Given the description of an element on the screen output the (x, y) to click on. 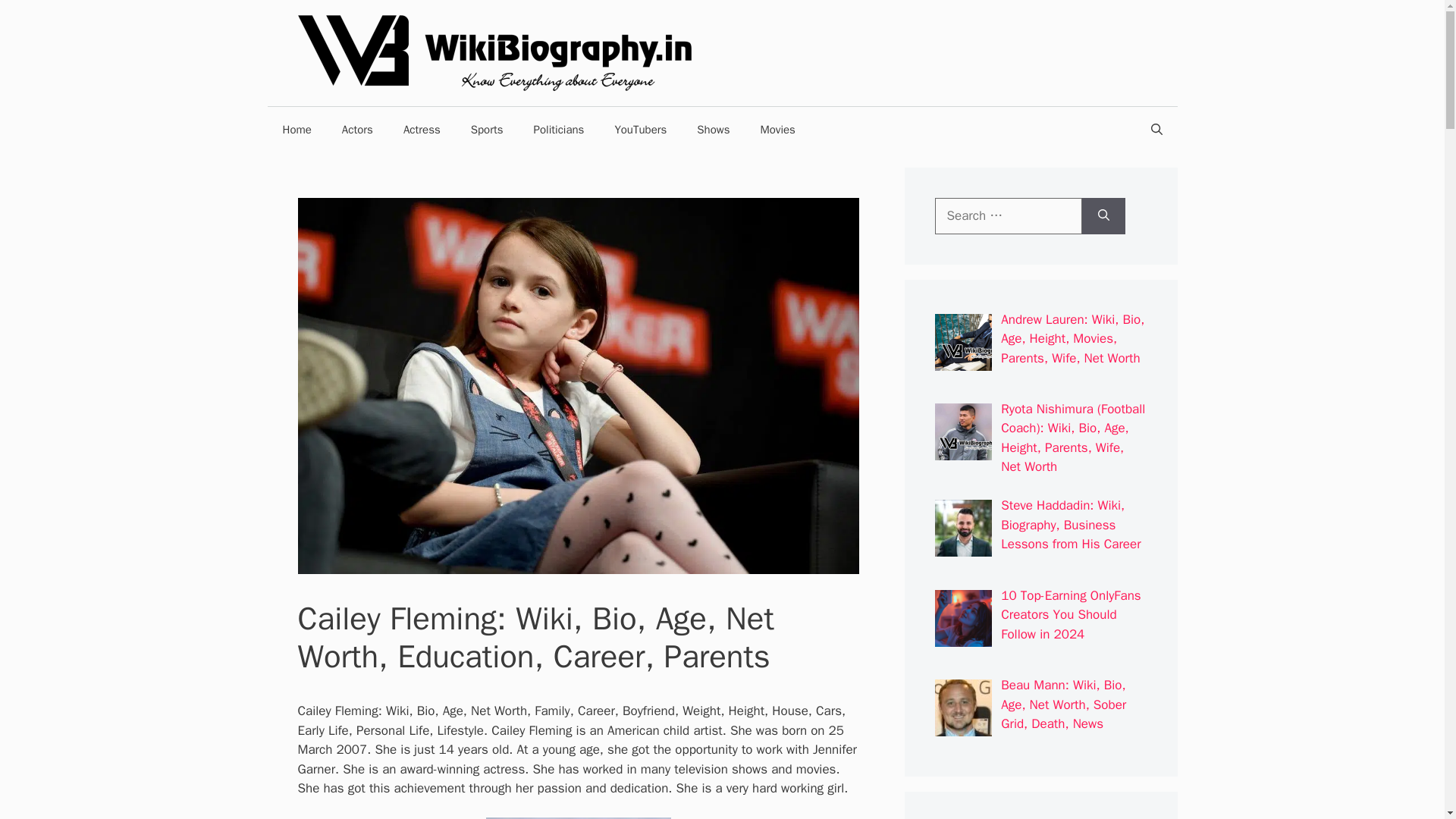
YouTubers (639, 129)
Shows (712, 129)
Actress (421, 129)
Movies (776, 129)
Search for: (1007, 216)
Actors (357, 129)
Home (296, 129)
Sports (486, 129)
Politicians (558, 129)
